Given the description of an element on the screen output the (x, y) to click on. 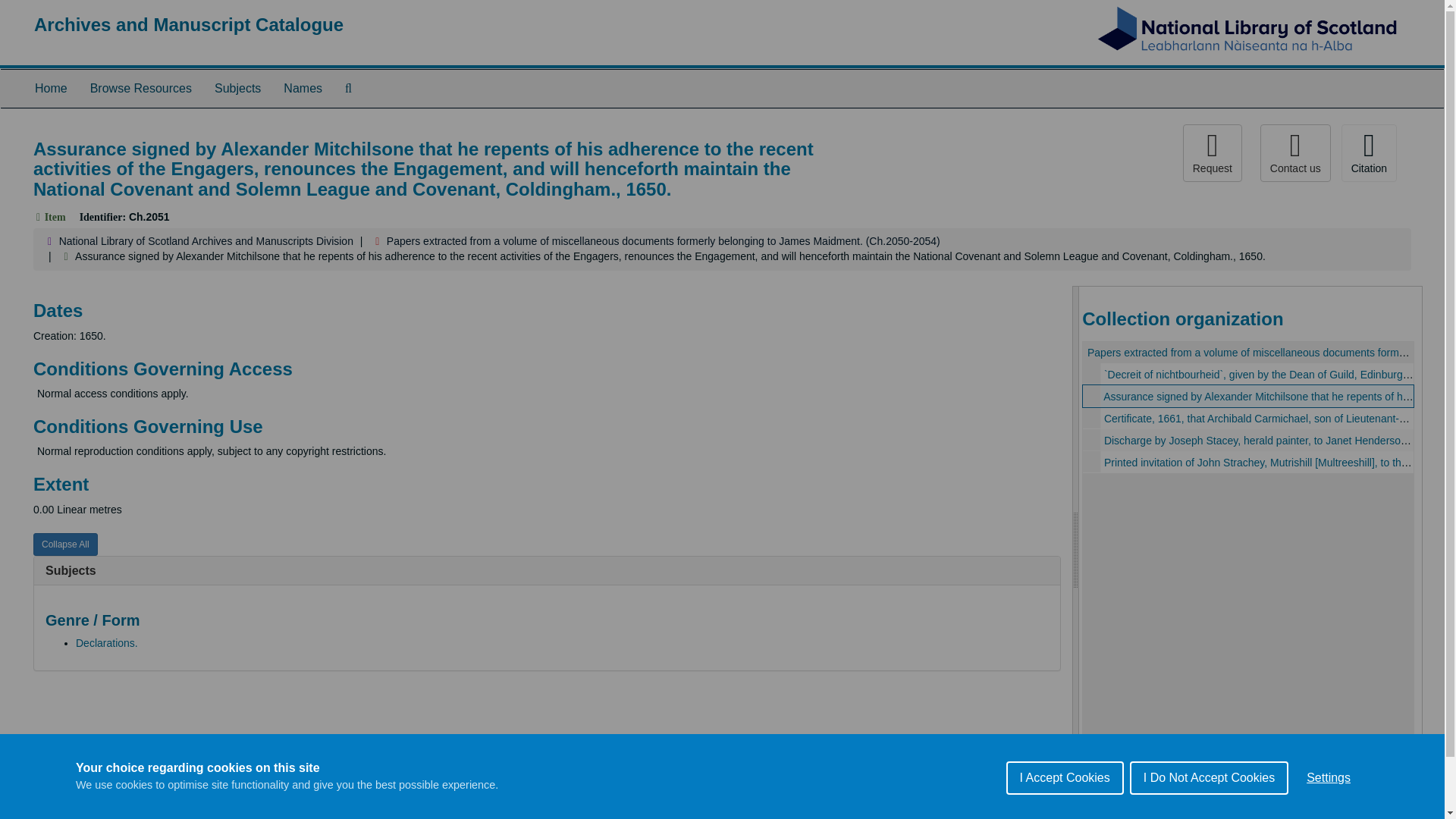
Contact us (1295, 152)
Archives and Manuscript Catalogue (188, 24)
Subjects (237, 88)
Request (1211, 152)
Return to the ArchivesSpace homepage (188, 24)
Settings (1328, 816)
Subjects (70, 570)
Declarations. (106, 643)
Names (302, 88)
Citation (1368, 152)
Page Actions (1130, 152)
translation missing: en.Home (50, 88)
